Given the description of an element on the screen output the (x, y) to click on. 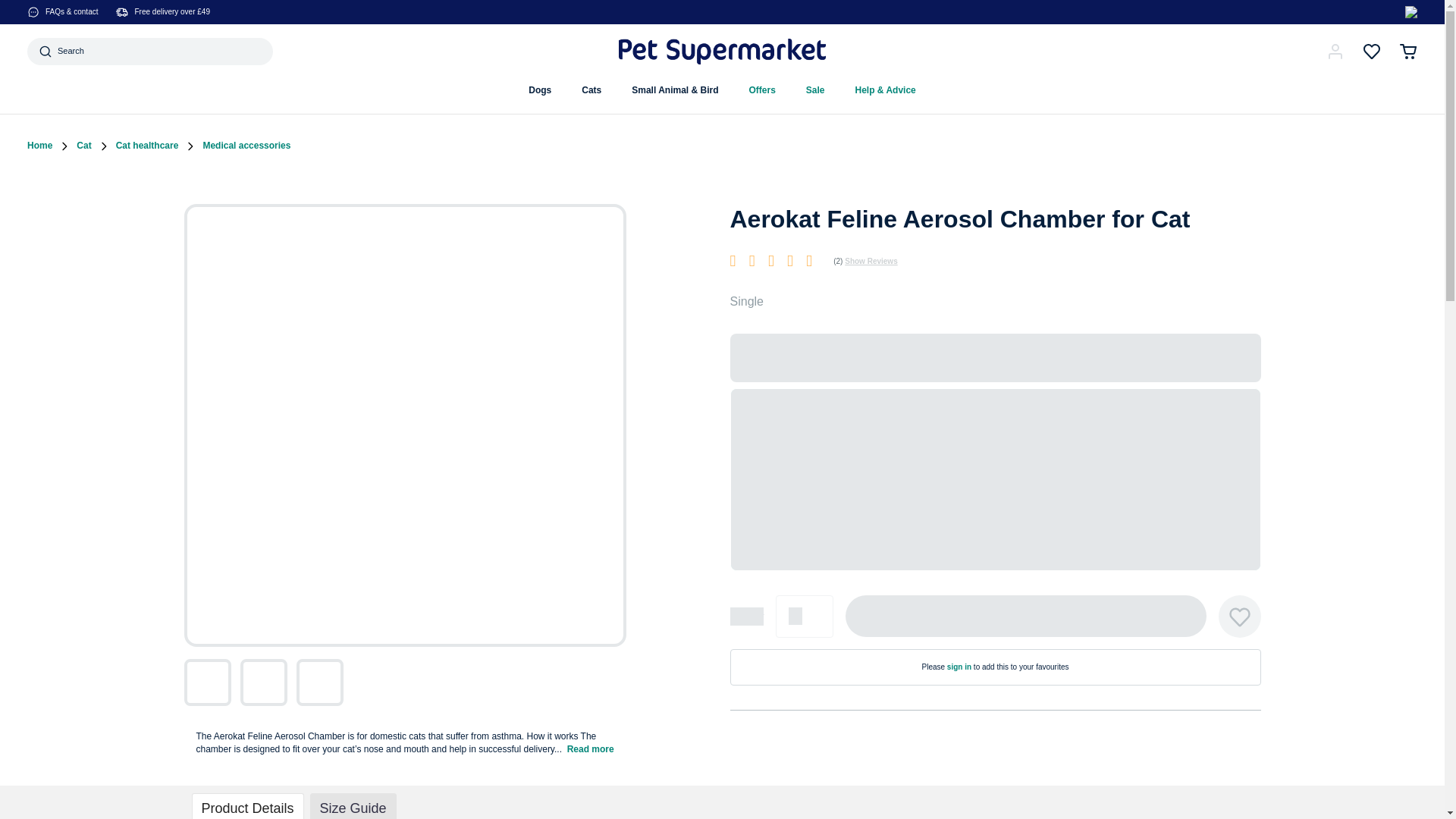
Pet Supermarket - UK's No.1 online store (721, 51)
